Given the description of an element on the screen output the (x, y) to click on. 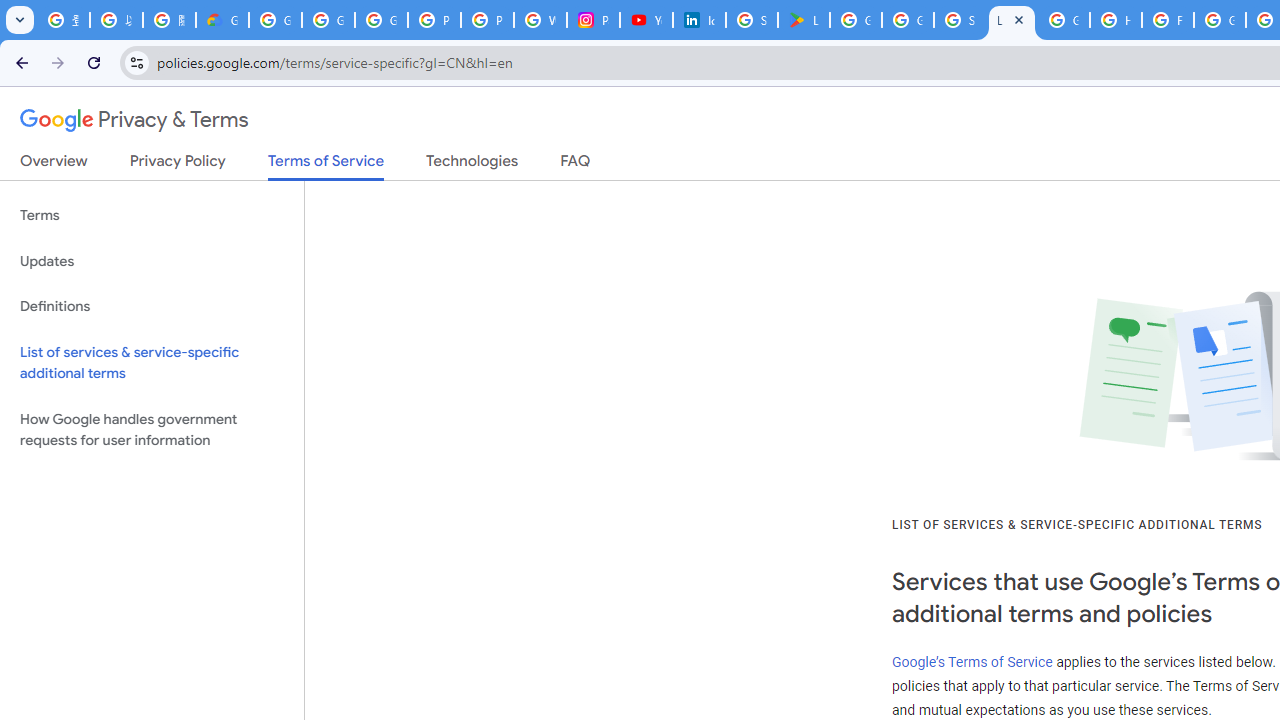
Forward (57, 62)
Sign in - Google Accounts (751, 20)
YouTube Culture & Trends - On The Rise: Handcam Videos (646, 20)
View site information (136, 62)
Privacy Help Center - Policies Help (487, 20)
Reload (93, 62)
Last Shelter: Survival - Apps on Google Play (803, 20)
How do I create a new Google Account? - Google Account Help (1115, 20)
Privacy & Terms (134, 120)
